Given the description of an element on the screen output the (x, y) to click on. 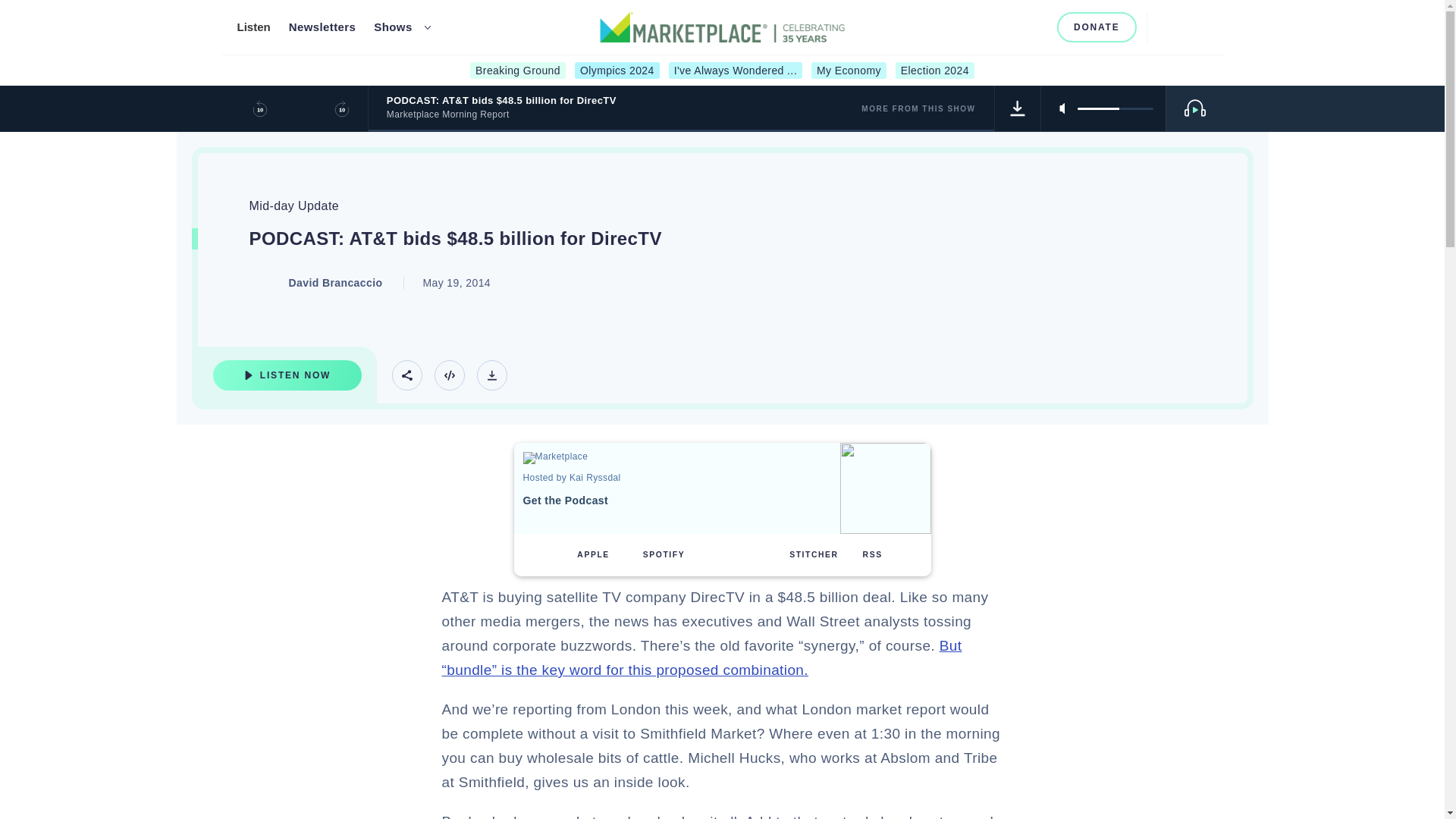
Shows (393, 26)
Download Track (1017, 108)
Facebook (962, 27)
5 (1115, 108)
Youtube (1011, 27)
Search (1164, 27)
Download Track (491, 374)
Listen (252, 26)
Listen Now (286, 374)
Instagram (985, 27)
